Given the description of an element on the screen output the (x, y) to click on. 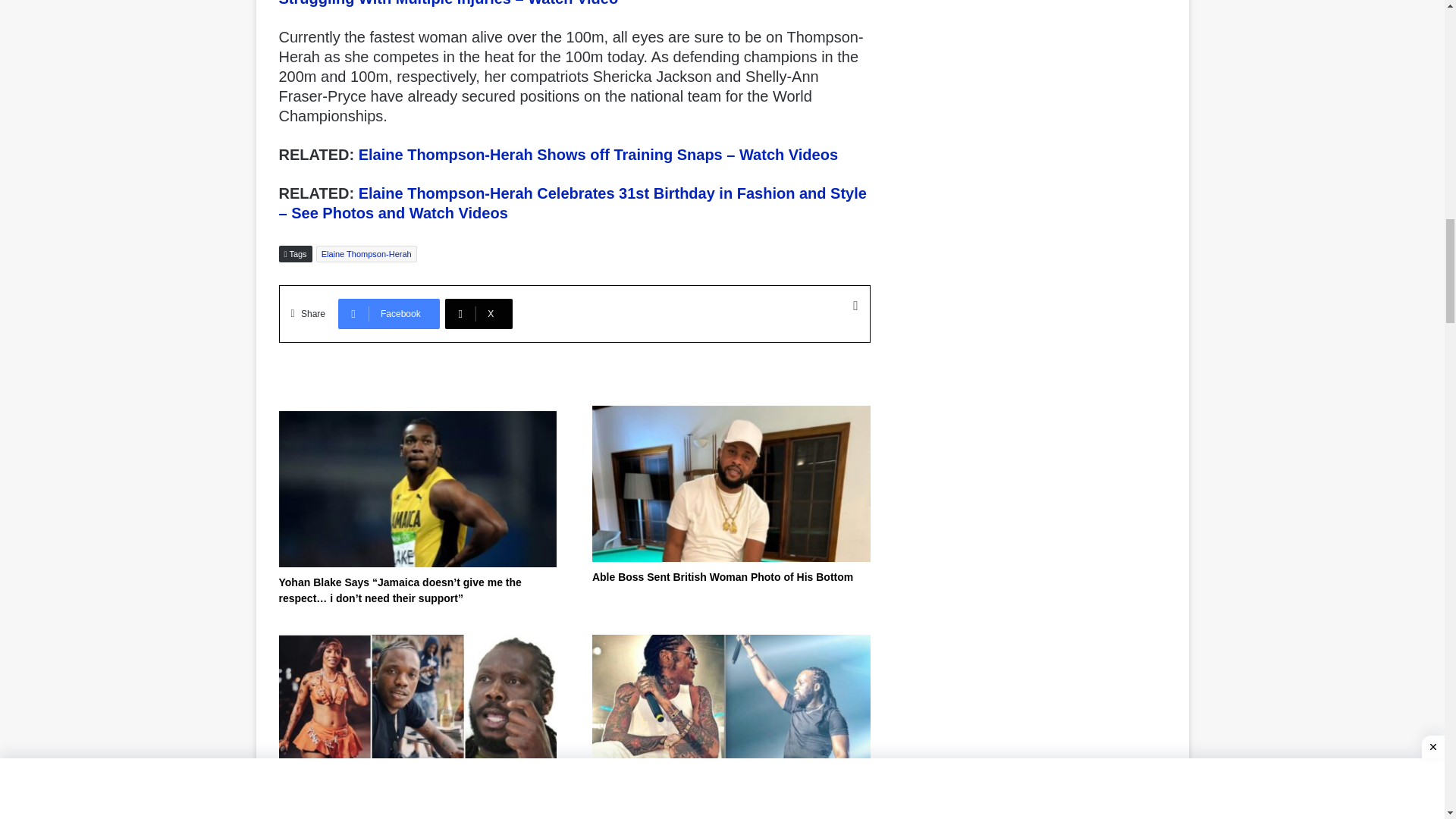
Elaine Thompson-Herah (365, 253)
